Given the description of an element on the screen output the (x, y) to click on. 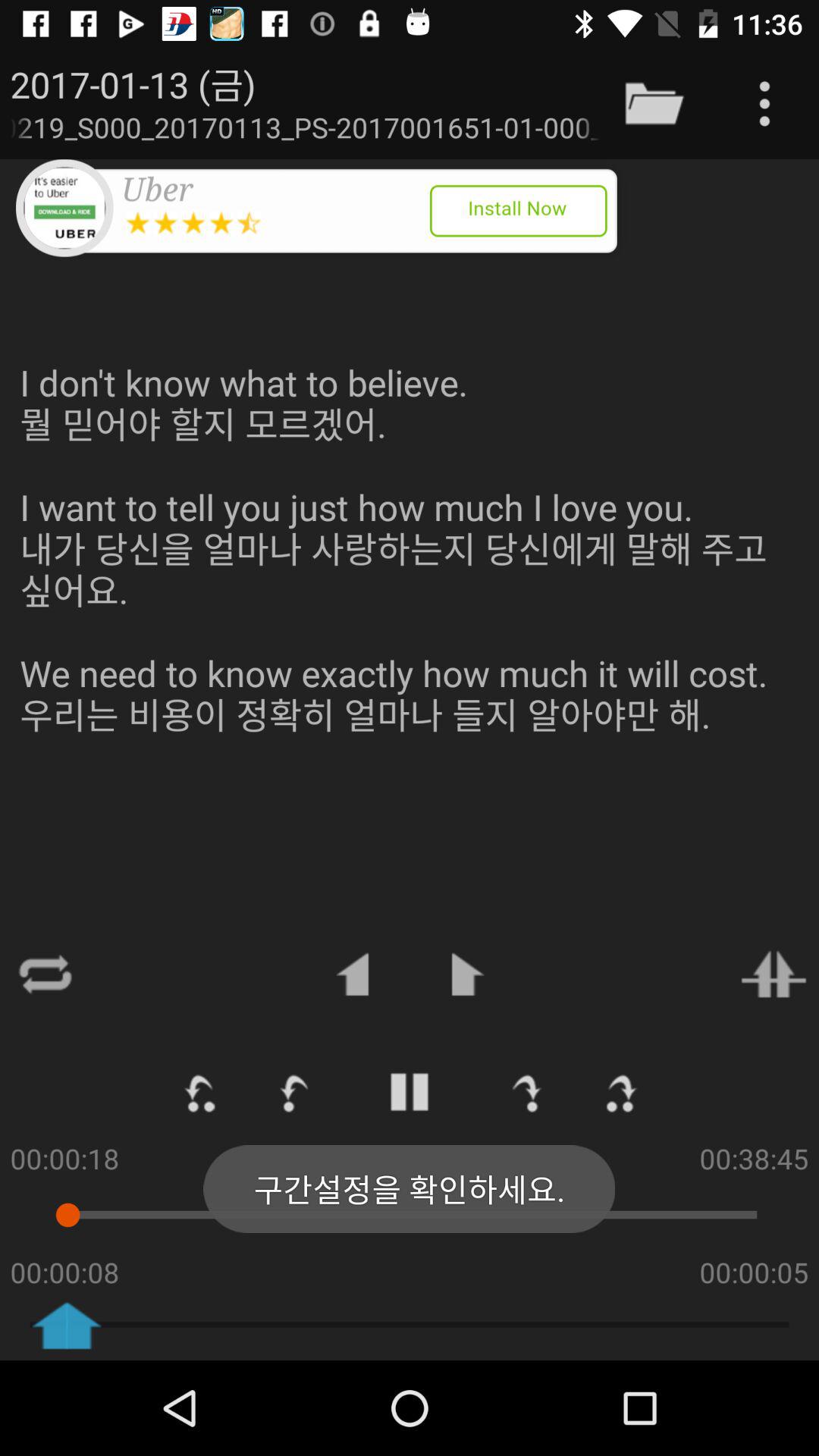
click on the button before pause button (295, 1091)
